Given the description of an element on the screen output the (x, y) to click on. 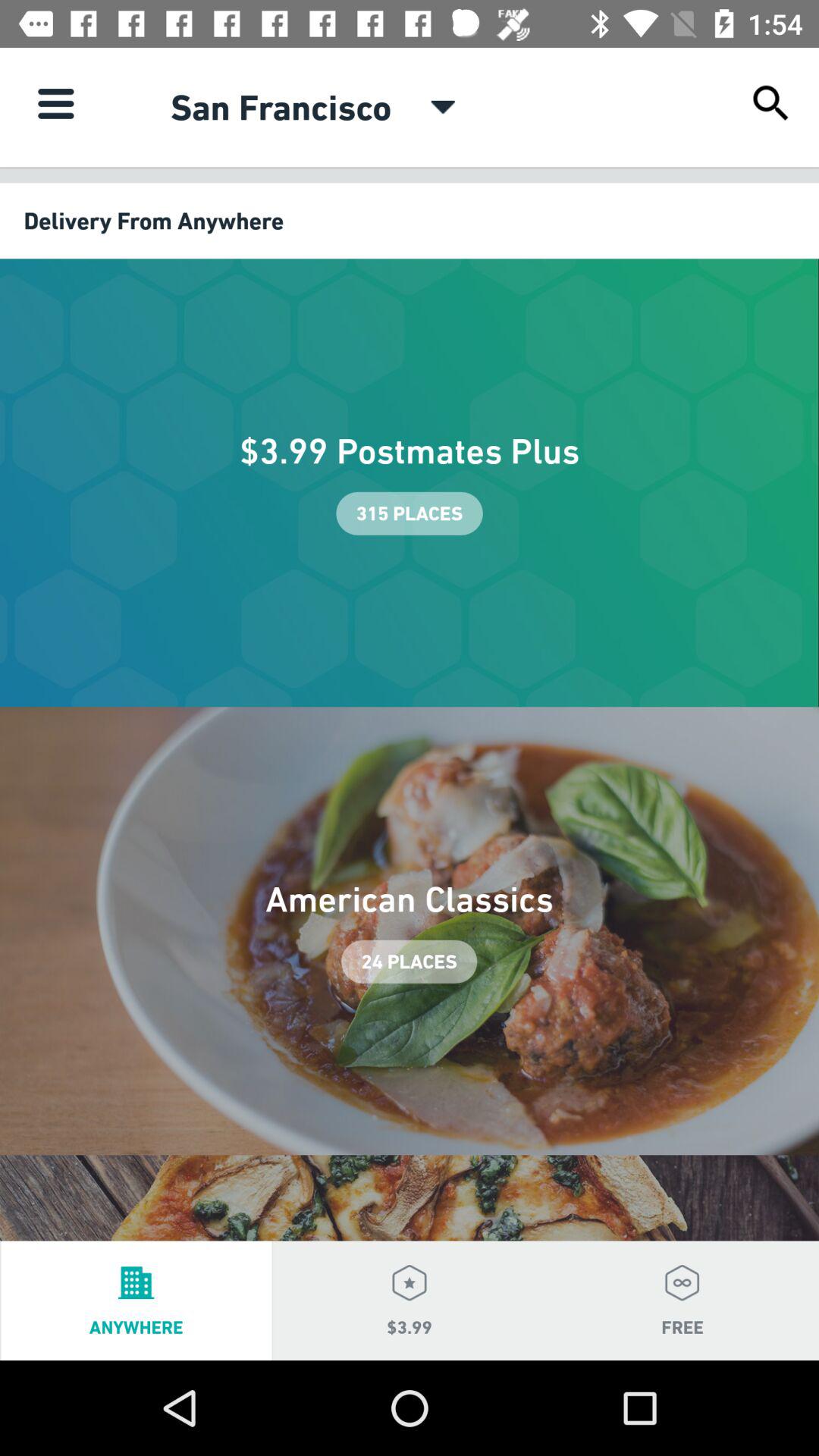
turn off icon next to the san francisco (55, 103)
